Given the description of an element on the screen output the (x, y) to click on. 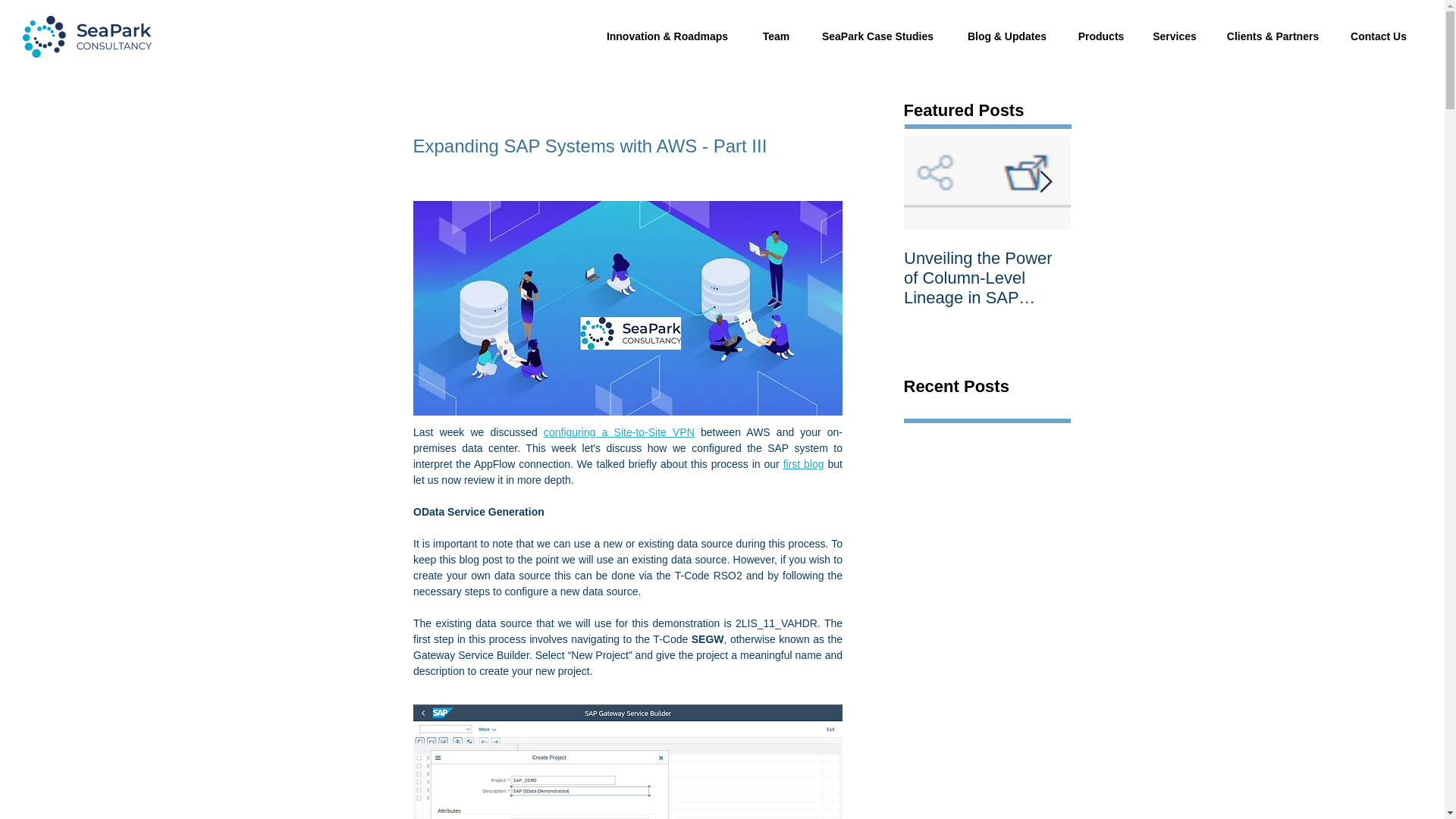
Contact Us (1378, 36)
configuring a Site-to-Site VPN (618, 431)
Team (776, 36)
SeaPark Case Studies (877, 36)
Products (1100, 36)
SAP iCapTransformation Framework (1153, 277)
first blog (803, 463)
